Given the description of an element on the screen output the (x, y) to click on. 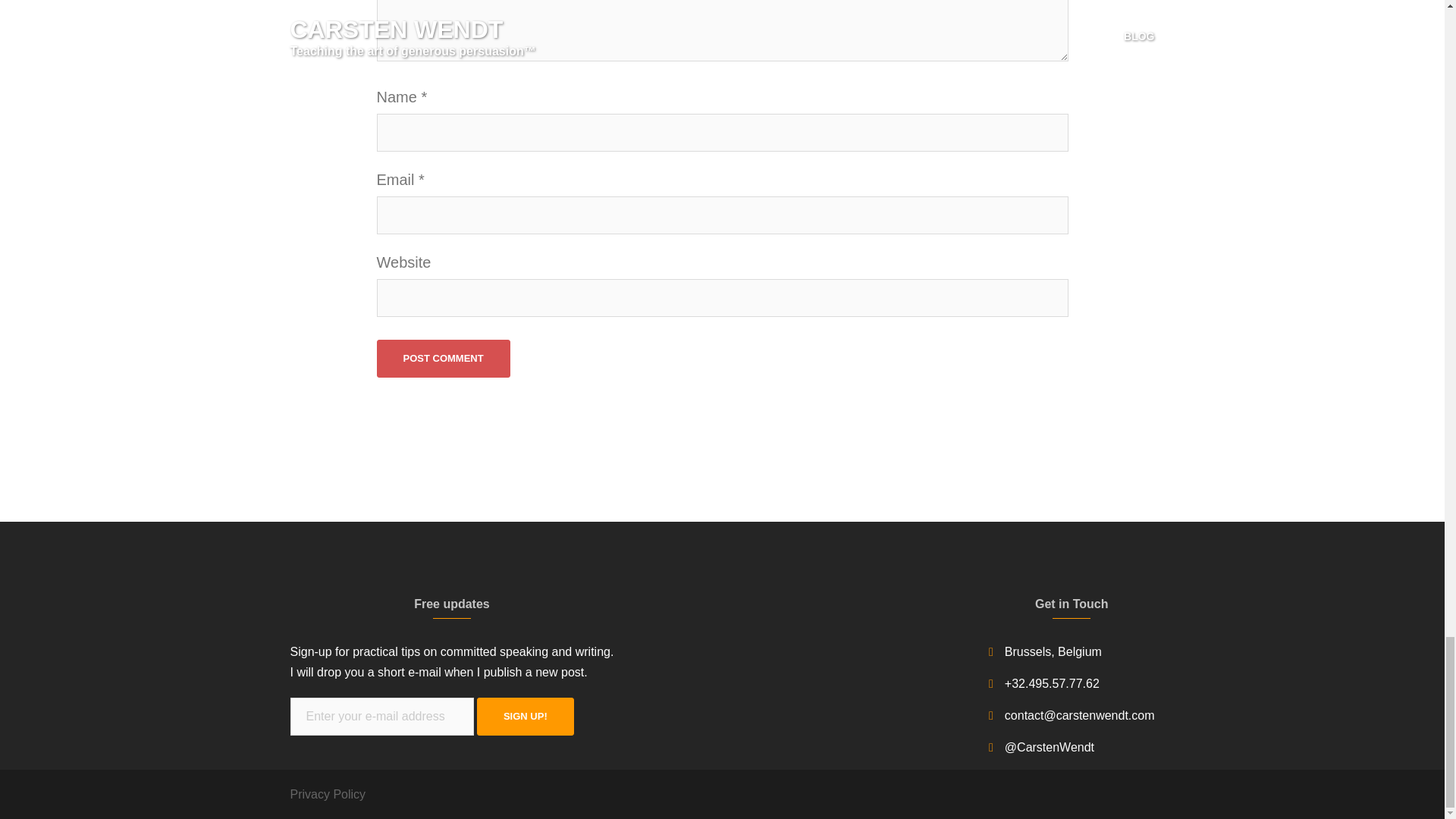
Post Comment (442, 358)
Post Comment (442, 358)
Sign Up! (525, 716)
Sign up (525, 716)
Sign Up! (525, 716)
Privacy Policy (327, 794)
